Given the description of an element on the screen output the (x, y) to click on. 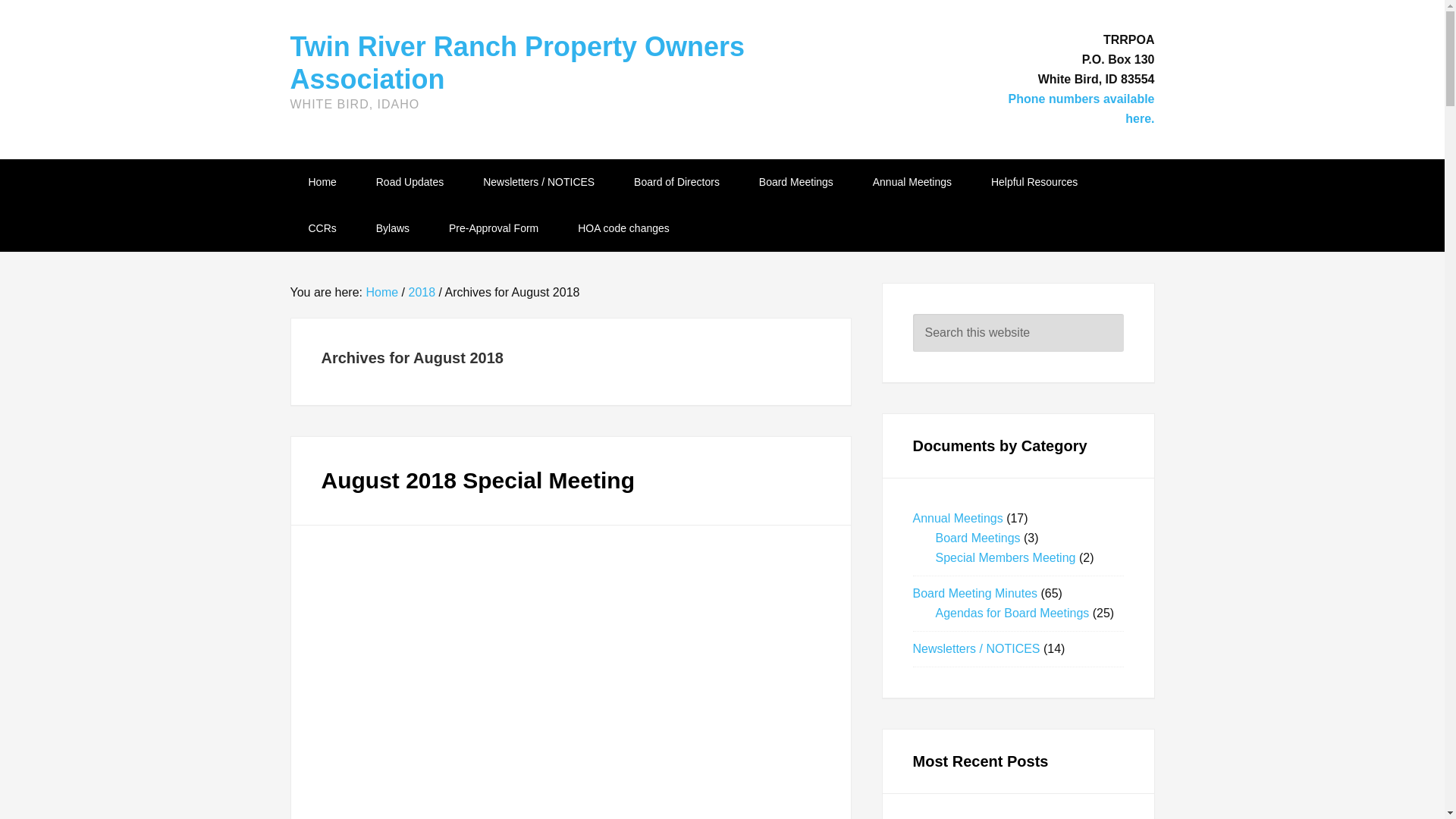
Annual Meeting Minutes for TRRPOA (911, 181)
Annual Meetings (957, 517)
2018 (421, 291)
Board of Directors Meeting Minutes for TRRPOA (676, 181)
Bylaws (393, 228)
Home (321, 181)
Agendas for Board Meetings (1012, 612)
Pre-Approval Form (493, 228)
Twin River Ranch CCRs (321, 228)
Special Members Meeting (1005, 557)
